Given the description of an element on the screen output the (x, y) to click on. 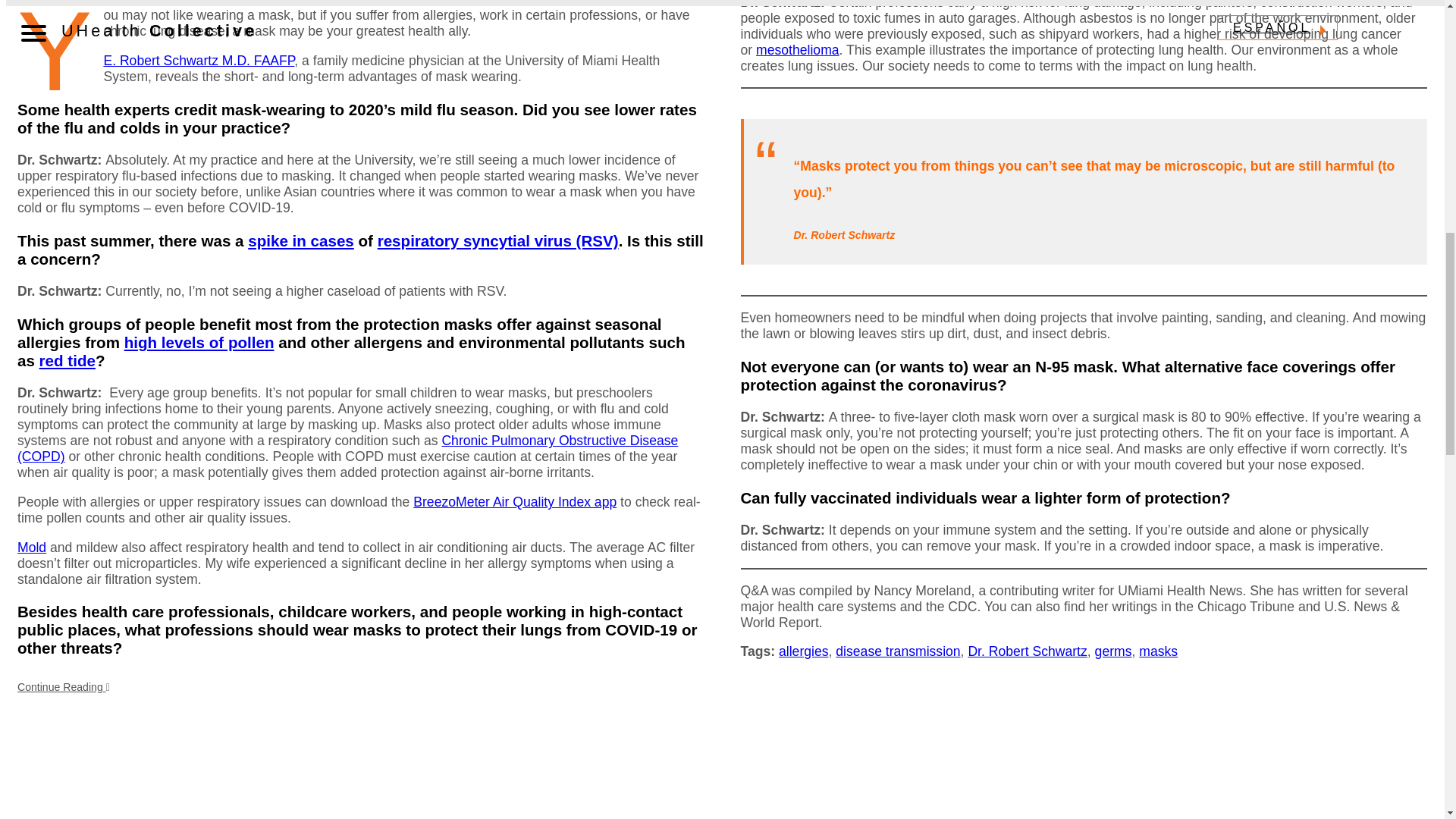
Dr. Robert Schwartz (1027, 651)
Mold (31, 547)
allergies (803, 651)
masks (1157, 651)
spike in cases (300, 240)
red tide (67, 360)
BreezoMeter Air Quality Index app (514, 501)
mesothelioma (797, 49)
disease transmission (897, 651)
high levels of pollen (199, 342)
